Given the description of an element on the screen output the (x, y) to click on. 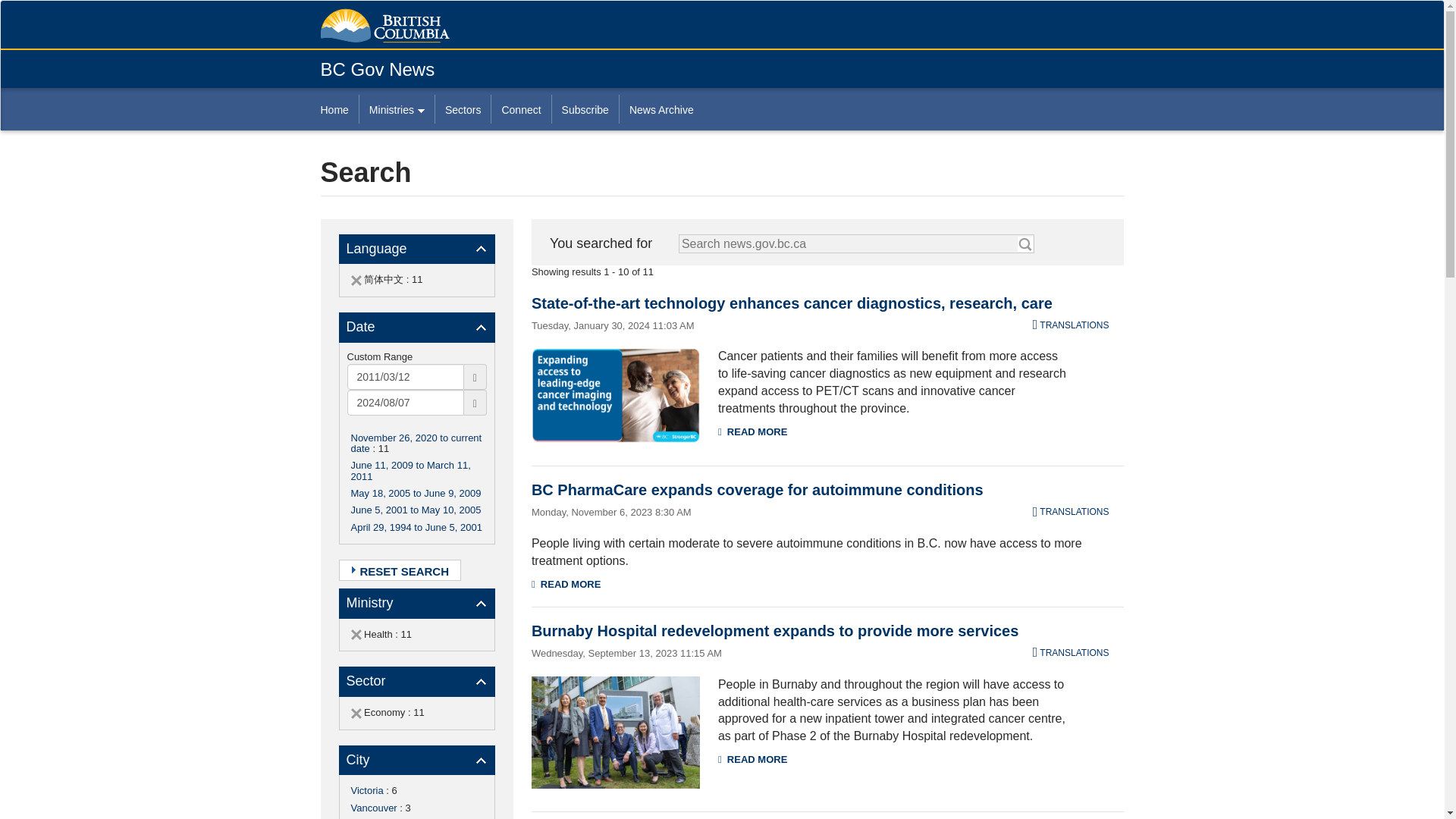
Subscribe (584, 109)
Home (339, 109)
BC Gov News (376, 68)
Sectors (461, 109)
Connect (520, 109)
News Archive (660, 109)
Ministries (395, 109)
Government of B.C. (384, 25)
